Given the description of an element on the screen output the (x, y) to click on. 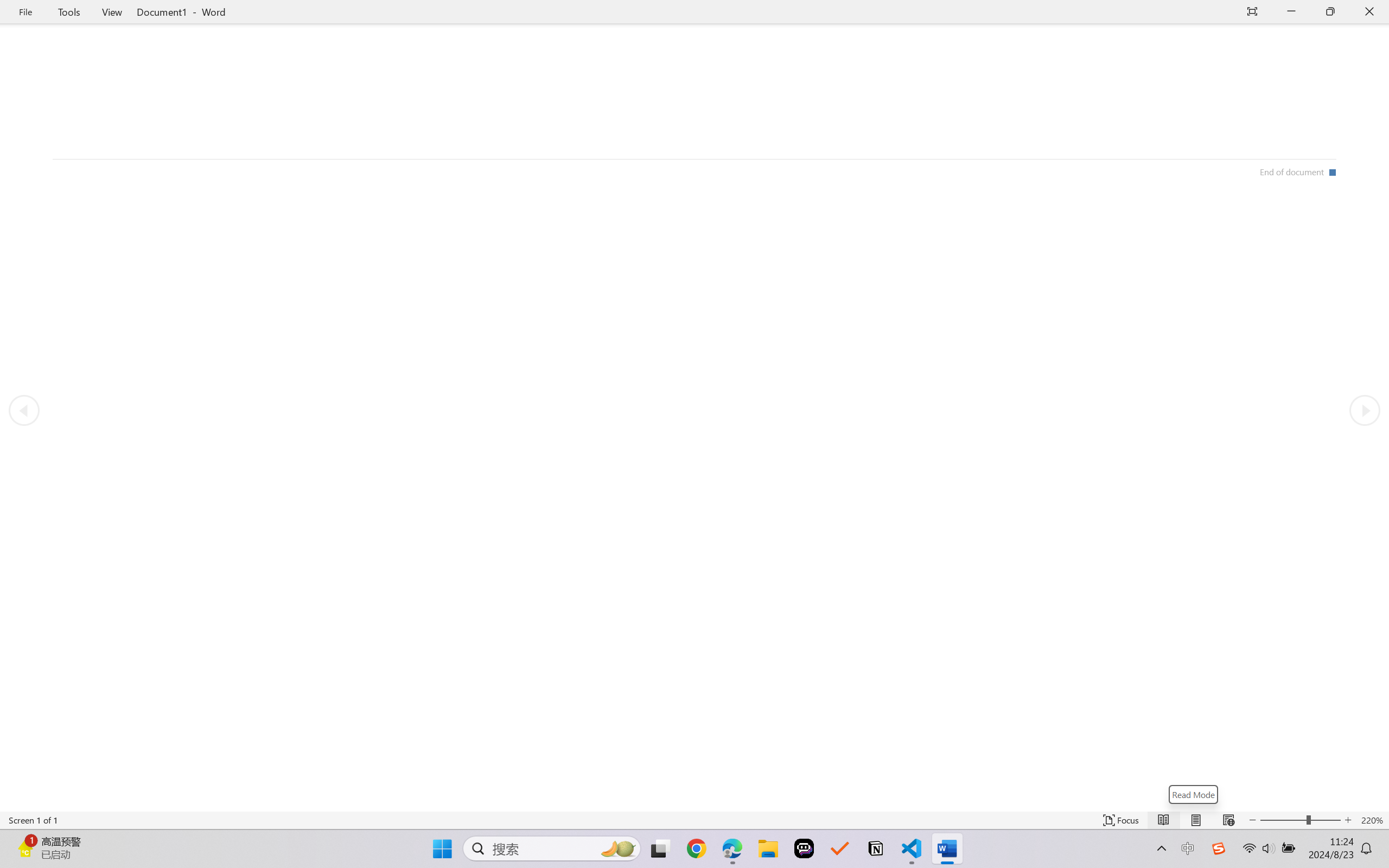
Tools (69, 11)
Auto-hide Reading Toolbar (1252, 11)
Increase Text Size (1348, 819)
